Given the description of an element on the screen output the (x, y) to click on. 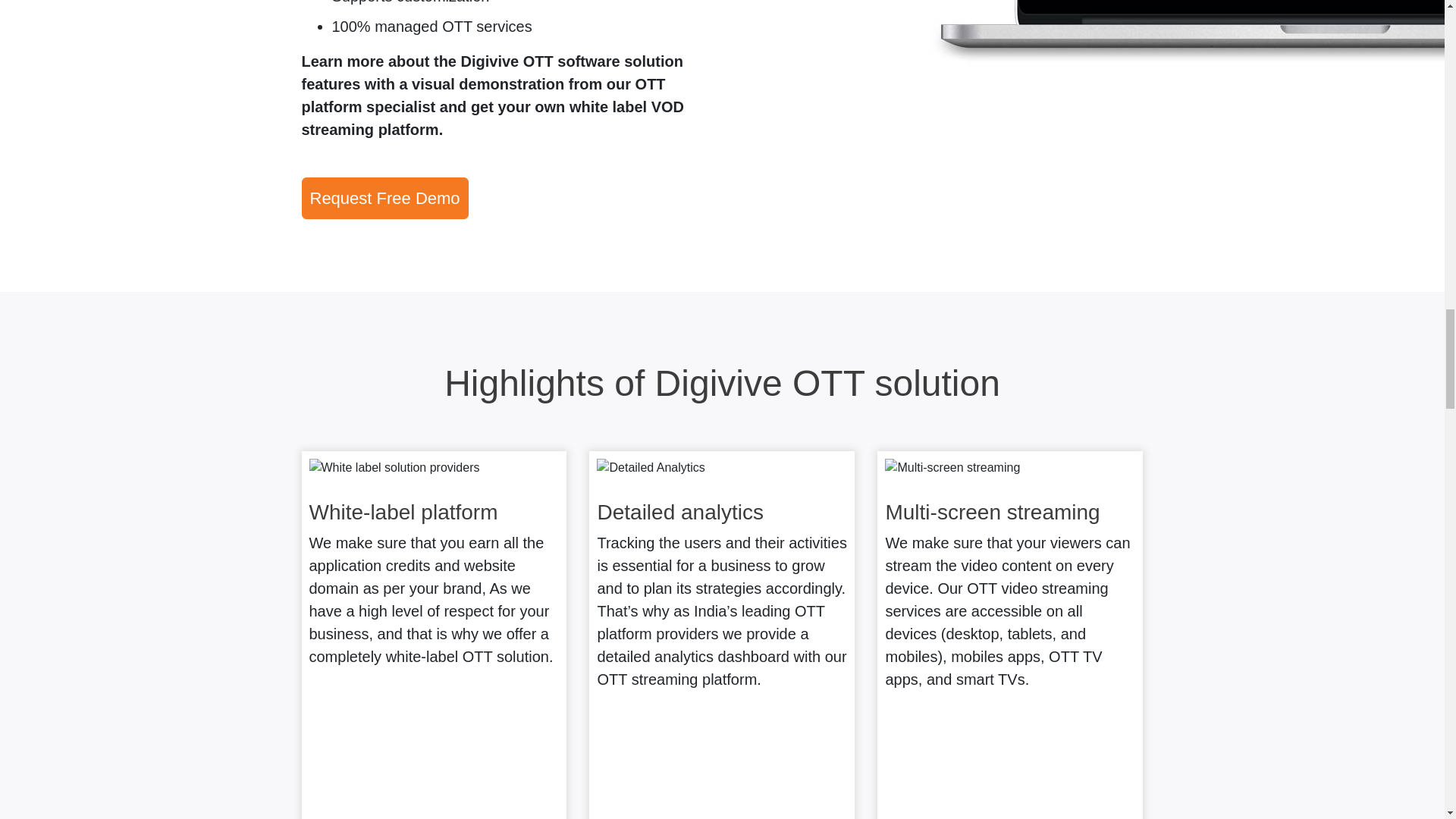
Request Free Demo (384, 198)
White label solution providers (394, 467)
Multi-screen streaming (952, 467)
Detailed Analytics (650, 467)
